Given the description of an element on the screen output the (x, y) to click on. 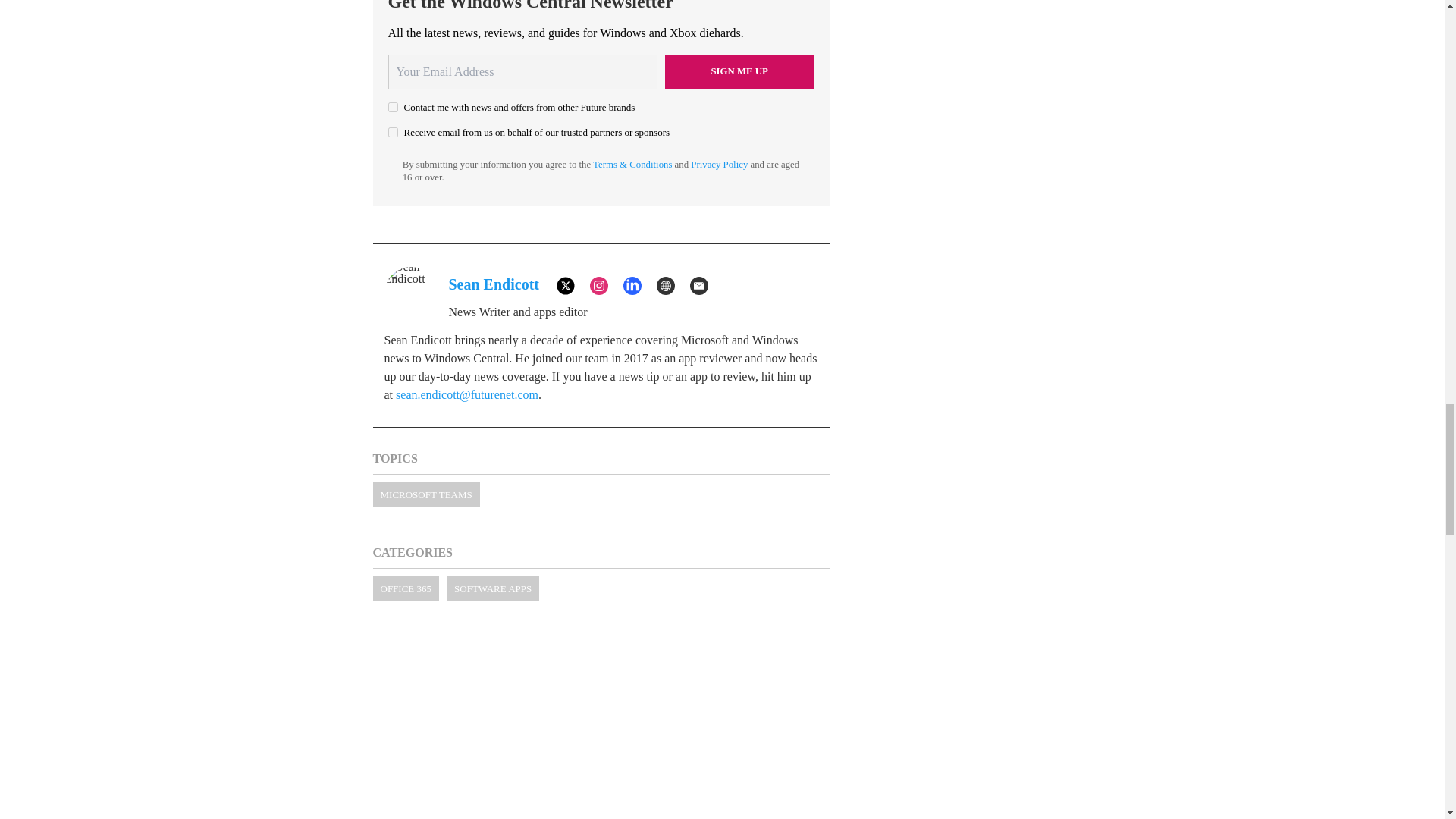
Sign me up (739, 71)
Sign me up (739, 71)
on (392, 107)
on (392, 132)
Privacy Policy (719, 163)
